Given the description of an element on the screen output the (x, y) to click on. 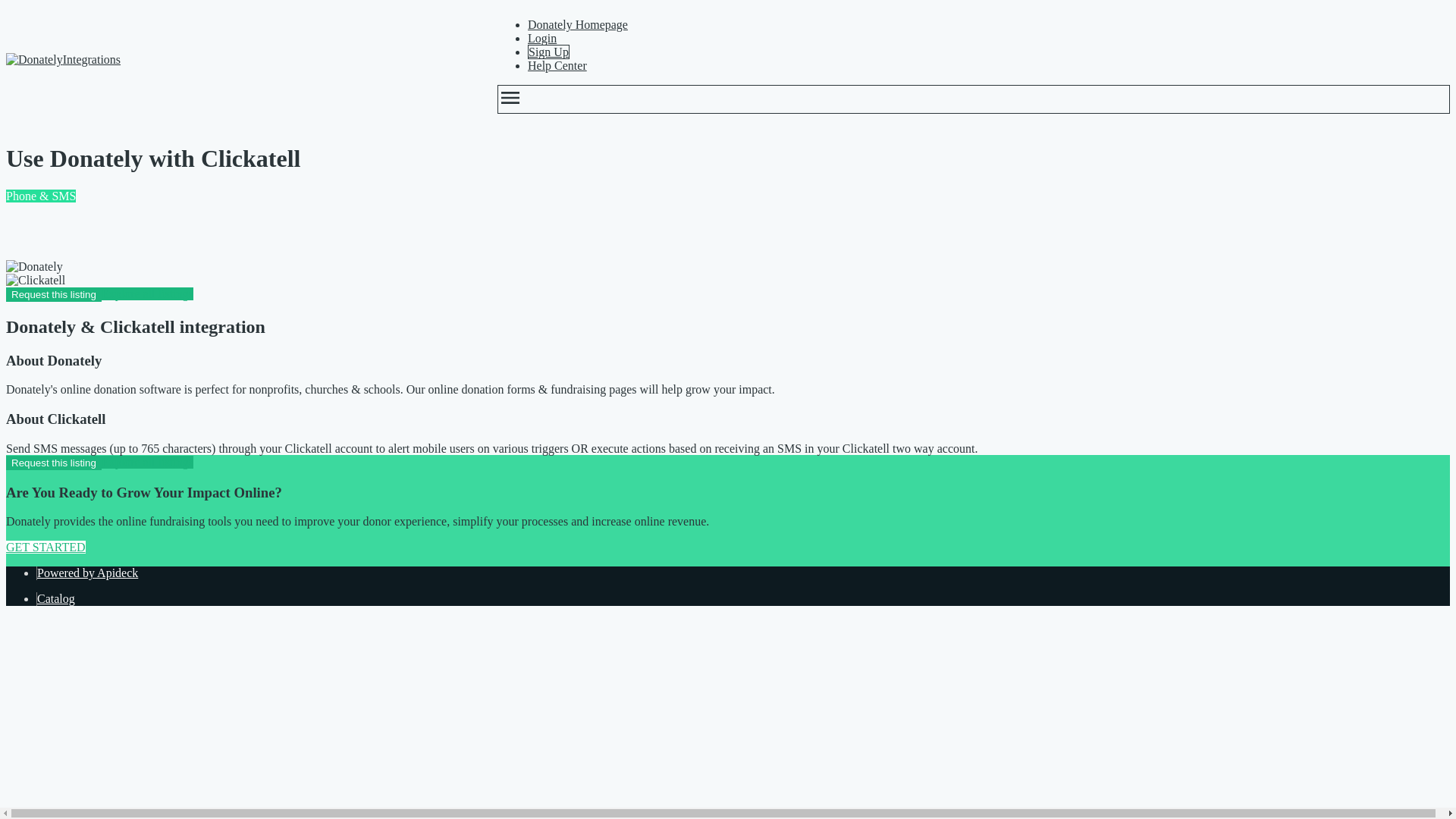
Request this listing (53, 294)
Clickatell (35, 280)
Help Center (556, 65)
Sign Up (548, 51)
Donately (33, 266)
Donately (33, 59)
Powered by Apideck (87, 572)
Donately Homepage (577, 24)
Explore all listings (147, 461)
Login (541, 38)
Request this listing (53, 462)
Explore all listings (147, 293)
GET STARTED (45, 546)
Integrations (236, 59)
Catalog (56, 598)
